Given the description of an element on the screen output the (x, y) to click on. 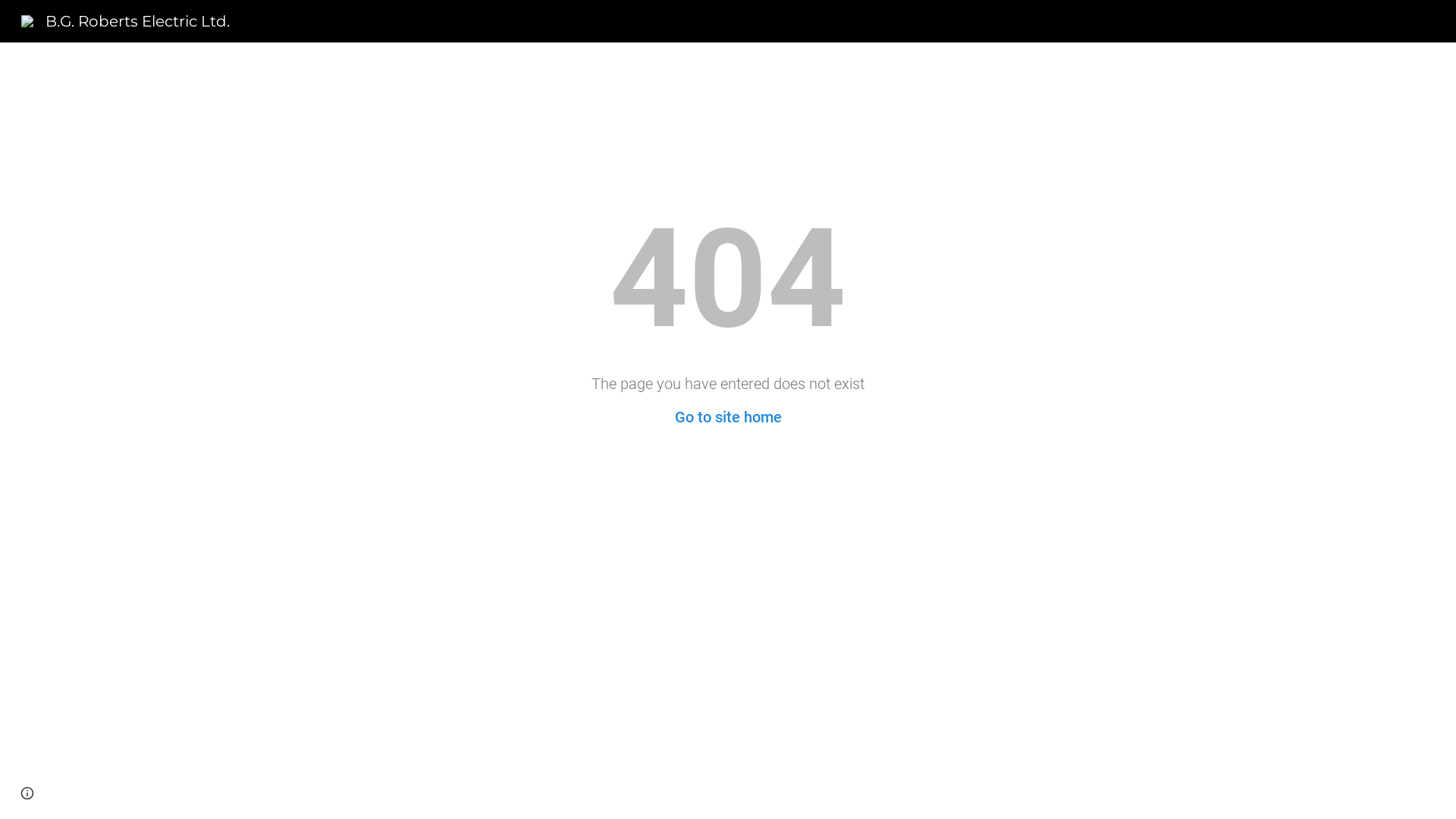
B.G. Roberts Electric Ltd. Element type: text (125, 19)
Go to site home Element type: text (727, 416)
